Given the description of an element on the screen output the (x, y) to click on. 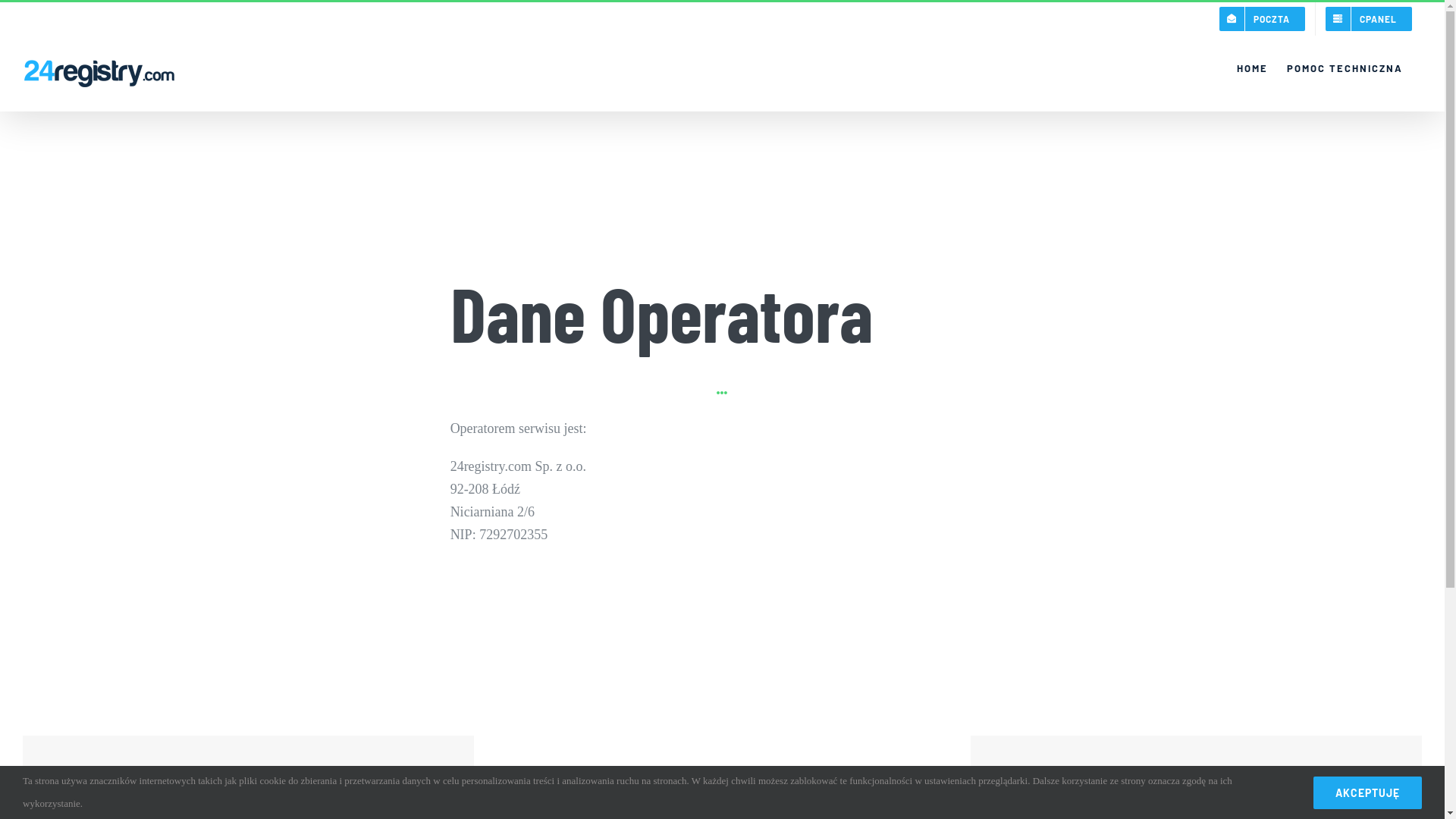
HOME Element type: text (1251, 68)
CPANEL Element type: text (1368, 18)
POCZTA Element type: text (1261, 18)
POMOC TECHNICZNA Element type: text (1344, 68)
